Given the description of an element on the screen output the (x, y) to click on. 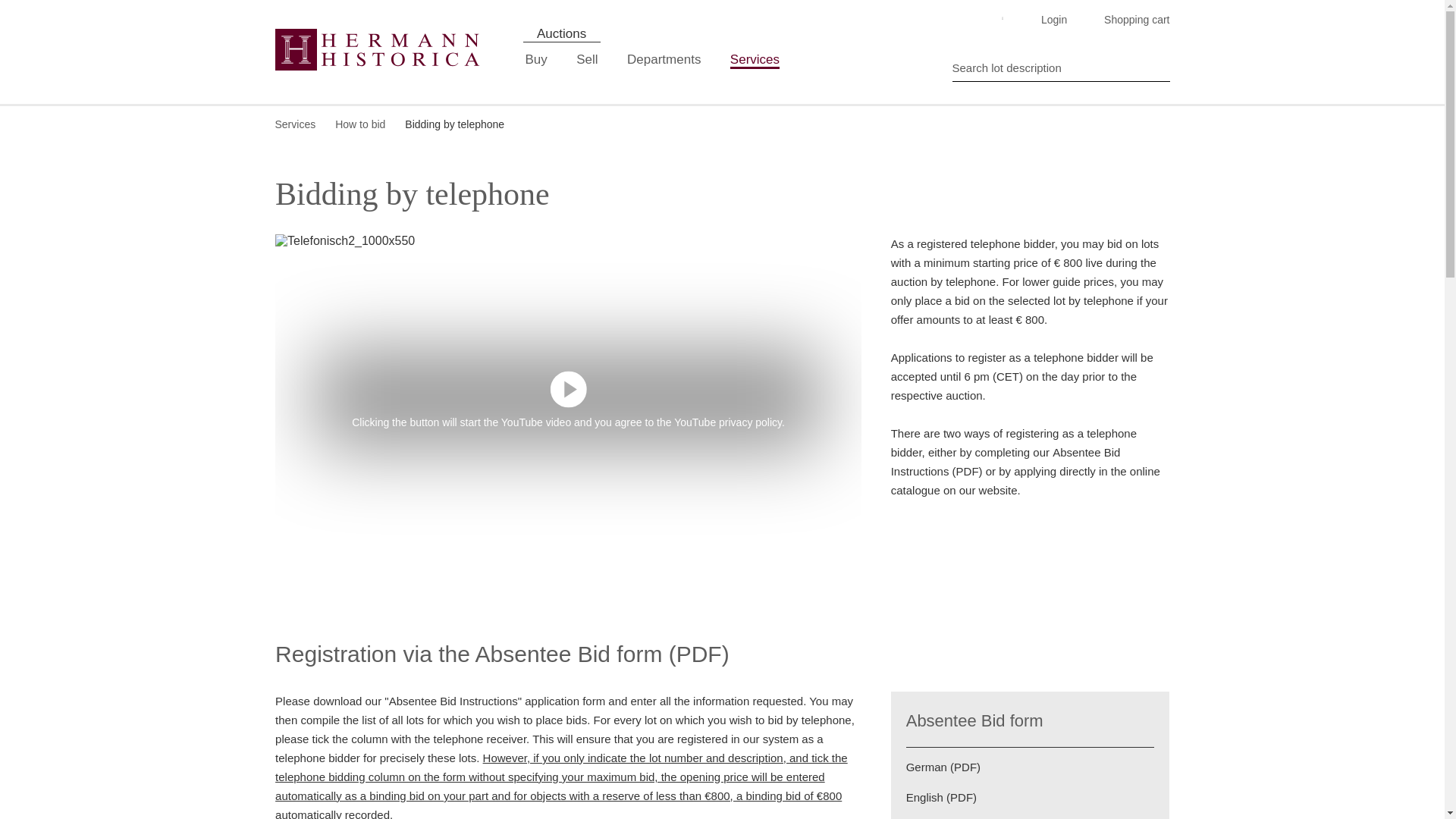
Shopping cart (1131, 19)
Sell (586, 58)
Sell (586, 58)
Your account (1048, 19)
Shopping cart (1131, 19)
Buy (536, 58)
Buy (536, 58)
Services (754, 58)
Login (1048, 19)
Departments (663, 58)
Services (754, 58)
Departments (663, 58)
Hermann Historica - Switch to homepage (378, 49)
